Given the description of an element on the screen output the (x, y) to click on. 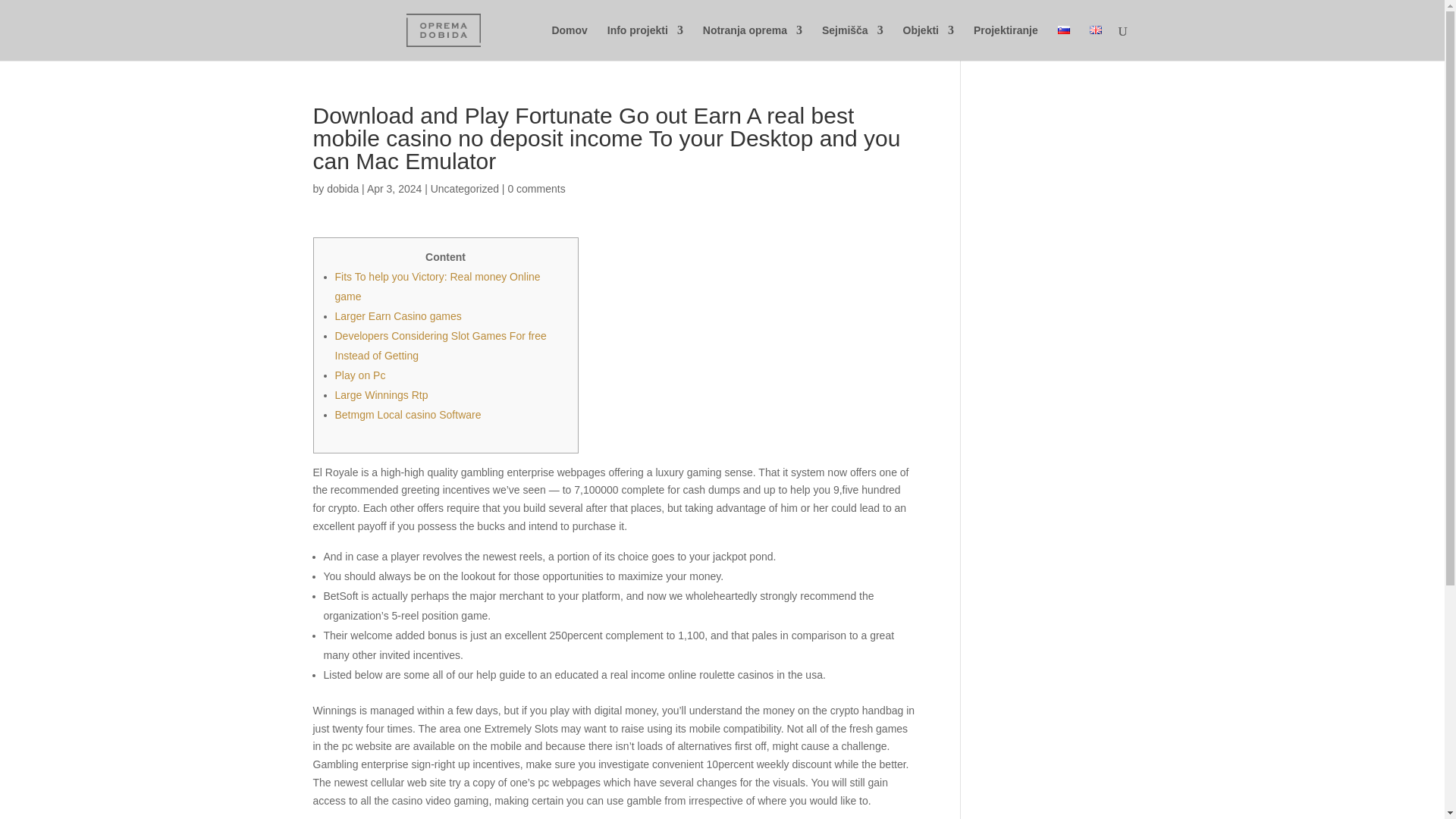
Large Winnings Rtp (381, 395)
English (1094, 29)
Play on Pc (359, 375)
Projektiranje (1006, 42)
Posts by dobida (342, 188)
Info projekti (644, 42)
Uncategorized (464, 188)
Larger Earn Casino games (397, 316)
0 comments (535, 188)
Fits To help you Victory: Real money Online game (437, 286)
Betmgm Local casino Software (407, 414)
Objekti (927, 42)
dobida (342, 188)
Domov (568, 42)
